Given the description of an element on the screen output the (x, y) to click on. 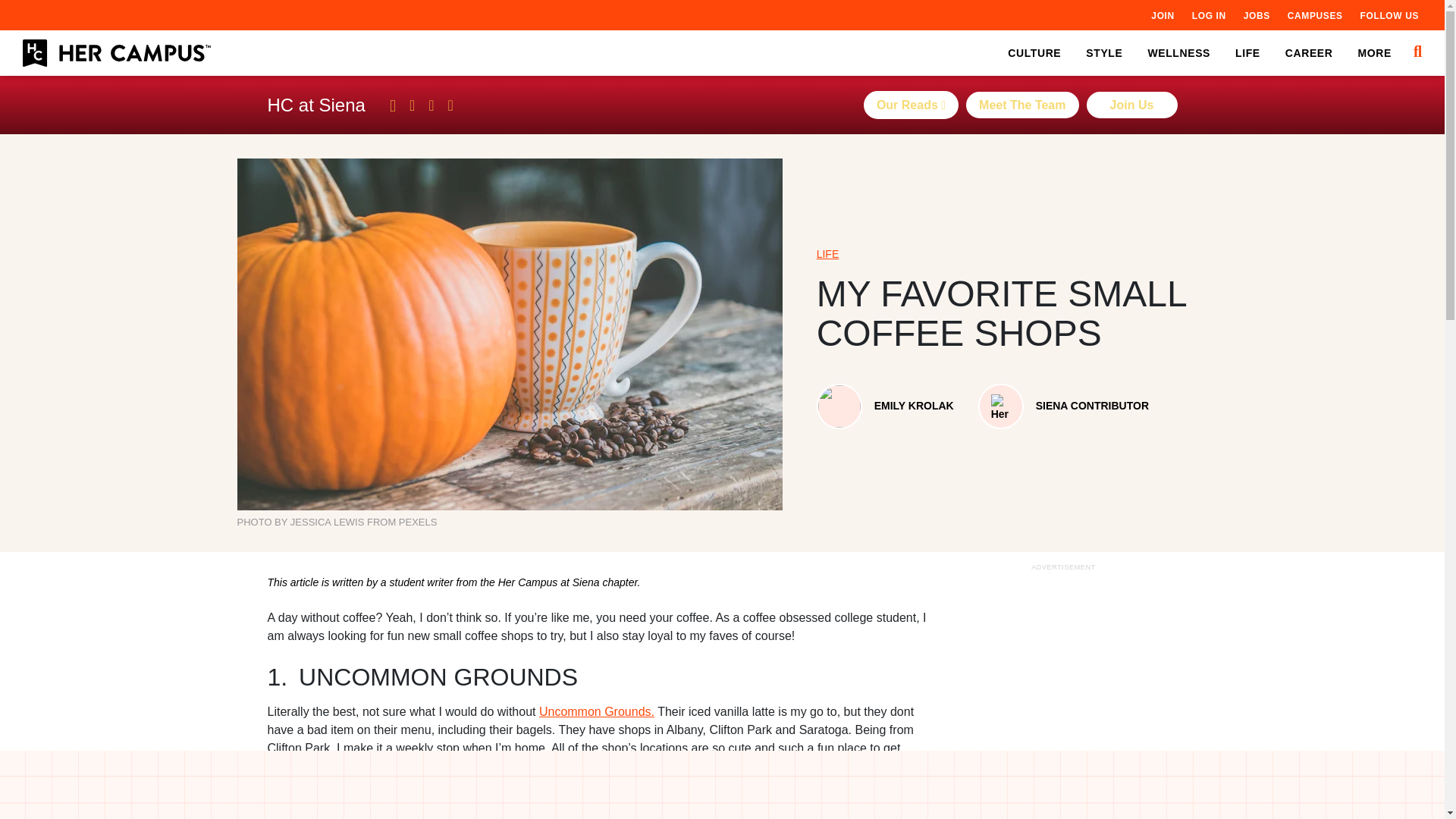
LOG IN (1208, 15)
CAMPUSES (1314, 15)
JOBS (1256, 15)
JOIN (1162, 15)
